Given the description of an element on the screen output the (x, y) to click on. 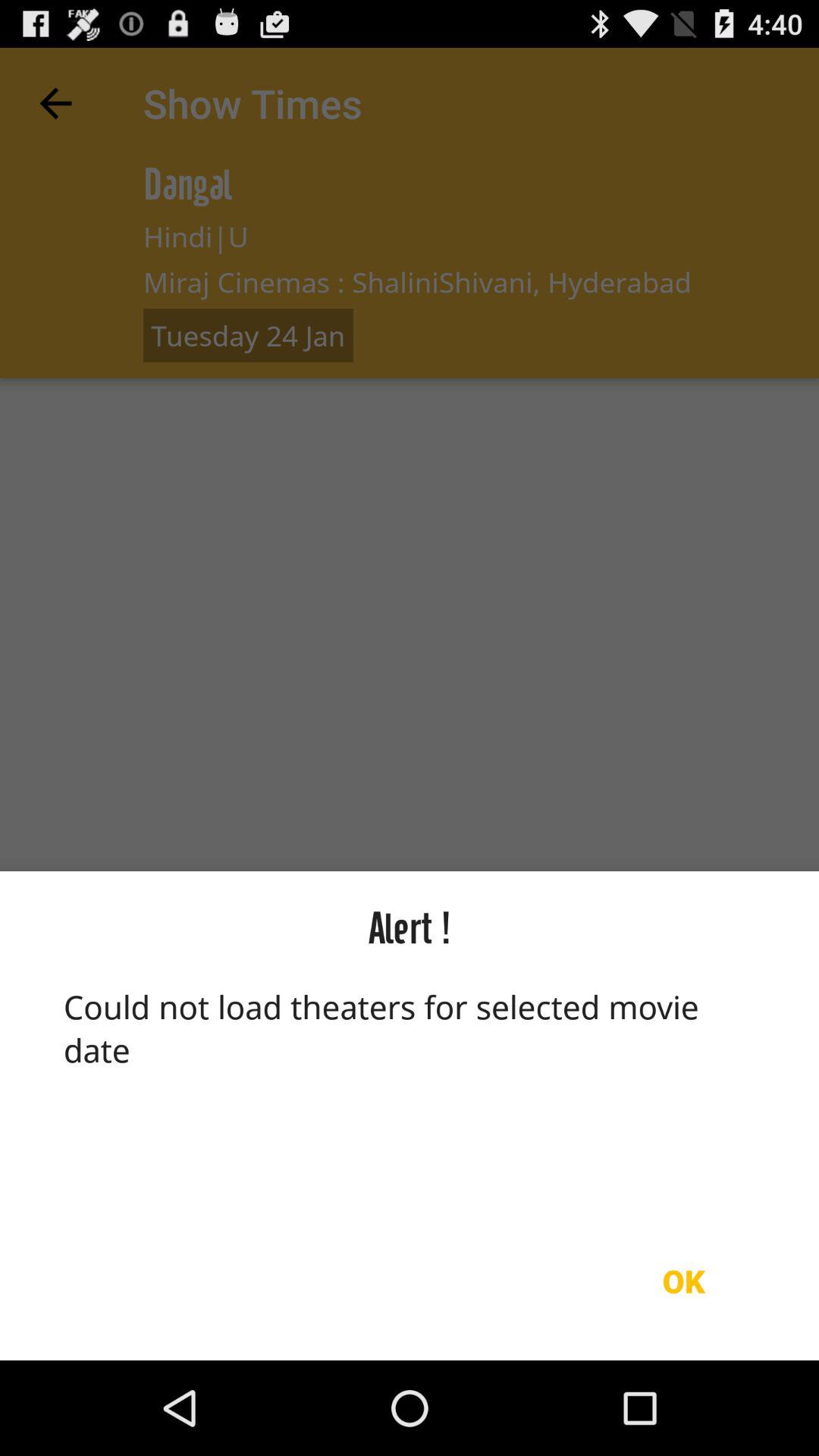
open could not load at the bottom (409, 1093)
